Given the description of an element on the screen output the (x, y) to click on. 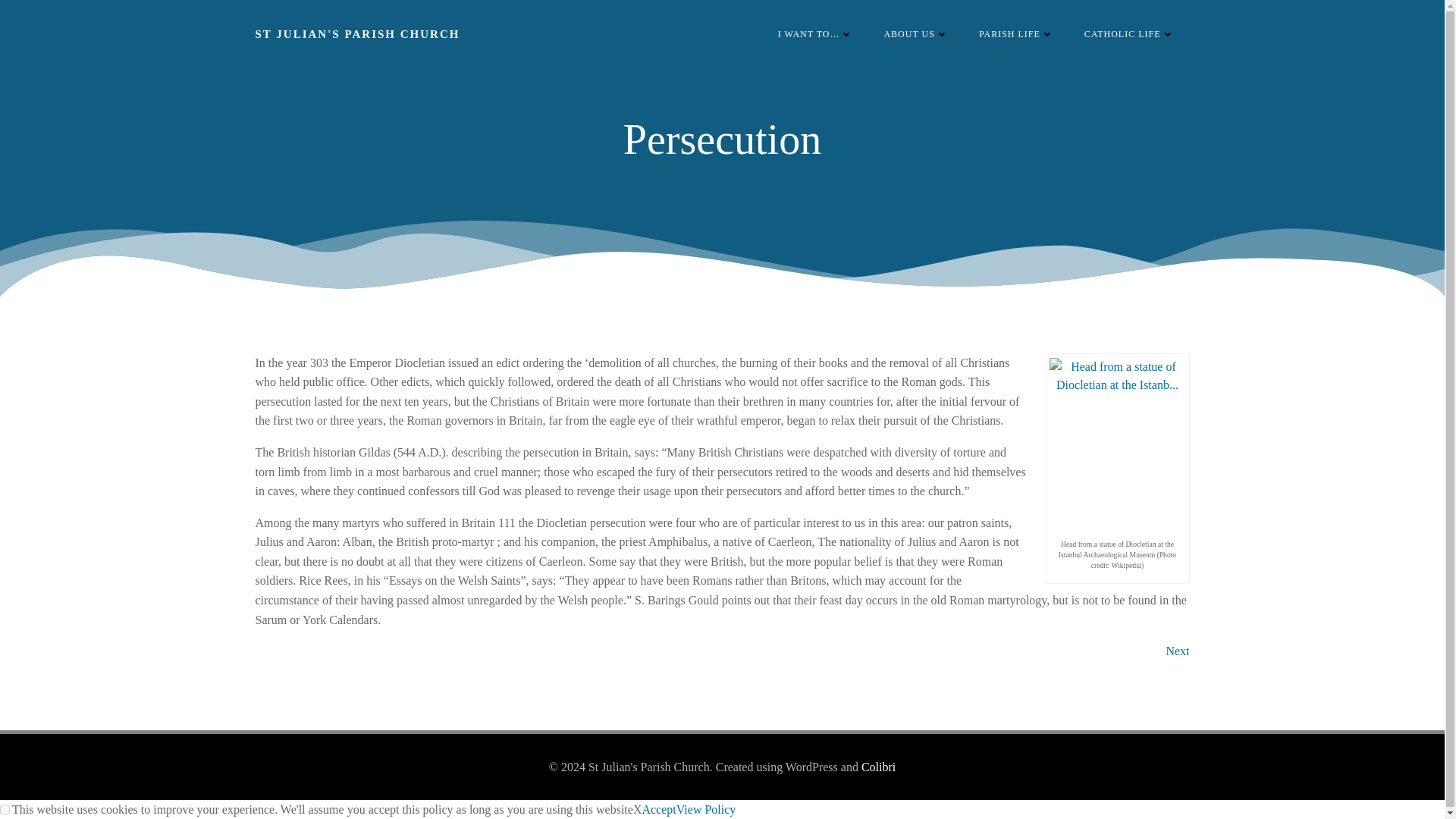
ABOUT US (915, 33)
on (5, 809)
fa fa-cross (1129, 33)
ST JULIAN'S PARISH CHURCH (357, 34)
fa fa-church (915, 33)
CATHOLIC LIFE (1129, 33)
fa fa-child (1016, 33)
fa fa-comment-dots (815, 33)
PARISH LIFE (1016, 33)
